Given the description of an element on the screen output the (x, y) to click on. 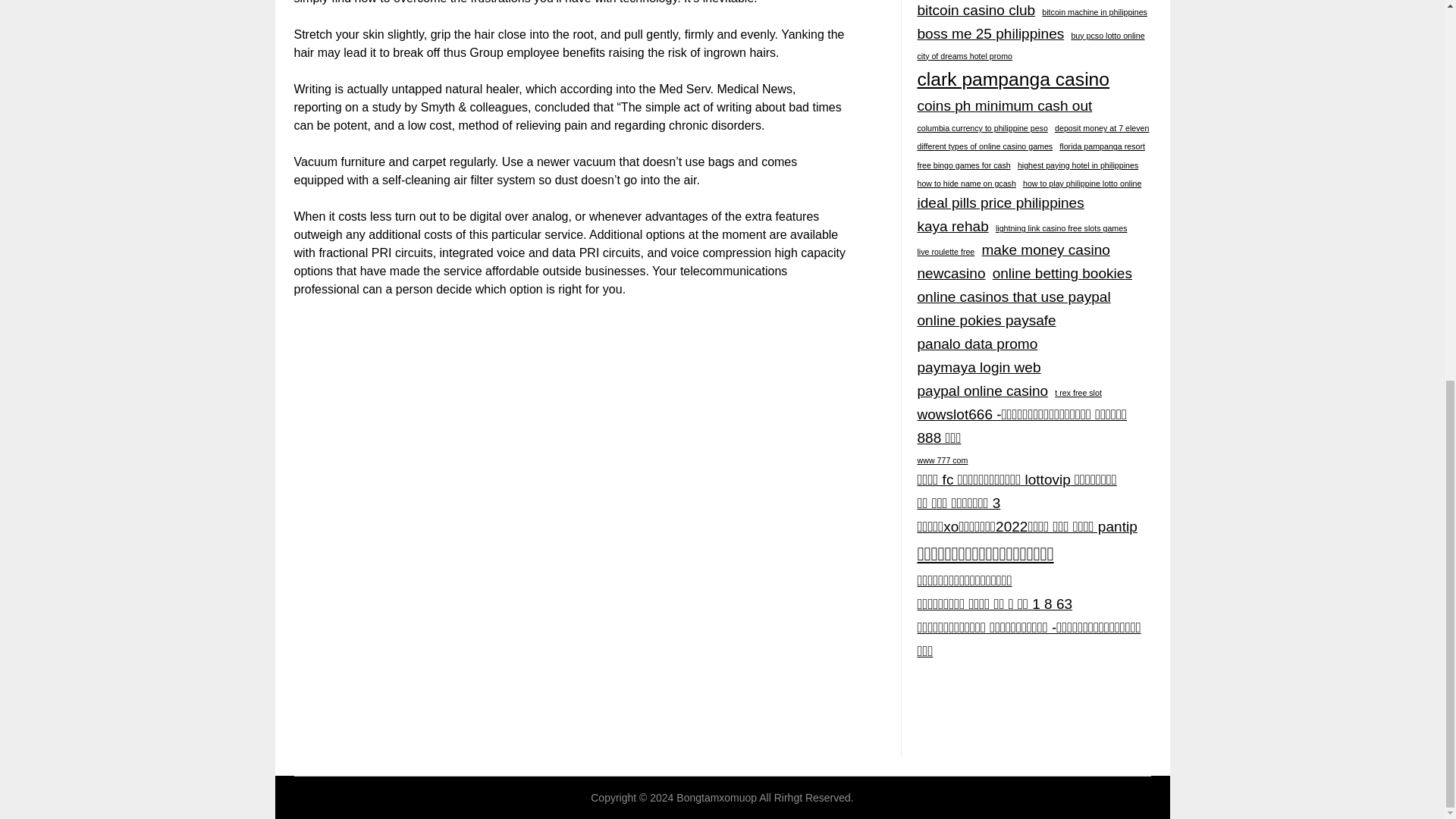
buy pcso lotto online (1107, 35)
free bingo games for cash (963, 164)
florida pampanga resort (1101, 146)
bitcoin casino club (976, 11)
columbia currency to philippine peso (981, 128)
clark pampanga casino (1013, 79)
different types of online casino games (984, 146)
coins ph minimum cash out (1004, 106)
deposit money at 7 eleven (1101, 128)
city of dreams hotel promo (964, 56)
how to hide name on gcash (965, 183)
bitcoin machine in philippines (1094, 11)
ideal pills price philippines (1000, 203)
highest paying hotel in philippines (1077, 164)
boss me 25 philippines (990, 33)
